Given the description of an element on the screen output the (x, y) to click on. 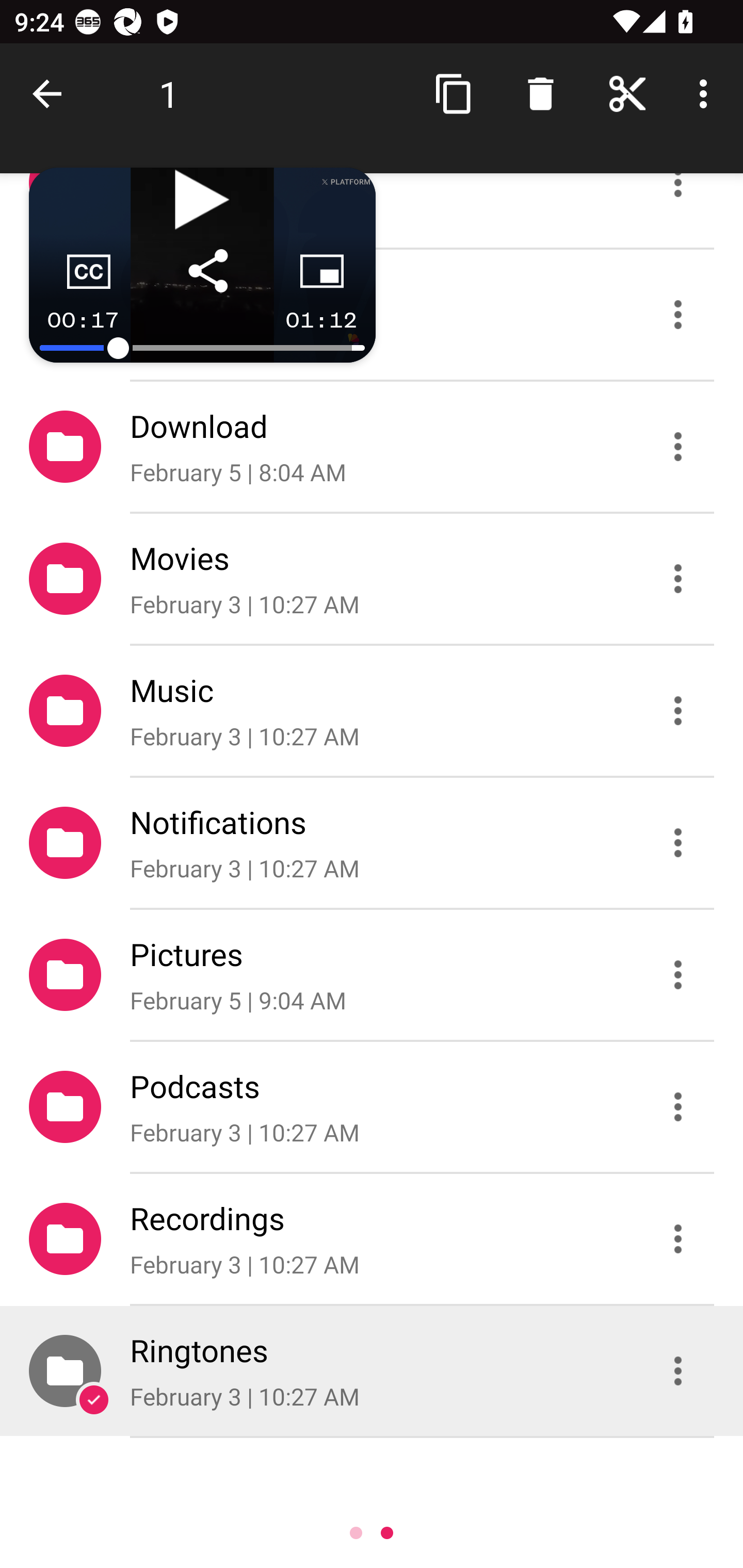
1 (169, 93)
Done (50, 93)
Copy (453, 93)
Delete (540, 93)
Cut (626, 93)
More options (706, 93)
Download February 5 | 8:04 AM (371, 446)
Movies February 3 | 10:27 AM (371, 579)
Music February 3 | 10:27 AM (371, 711)
Notifications February 3 | 10:27 AM (371, 842)
Pictures February 5 | 9:04 AM (371, 974)
Podcasts February 3 | 10:27 AM (371, 1106)
Recordings February 3 | 10:27 AM (371, 1239)
Ringtones February 3 | 10:27 AM (371, 1371)
